Given the description of an element on the screen output the (x, y) to click on. 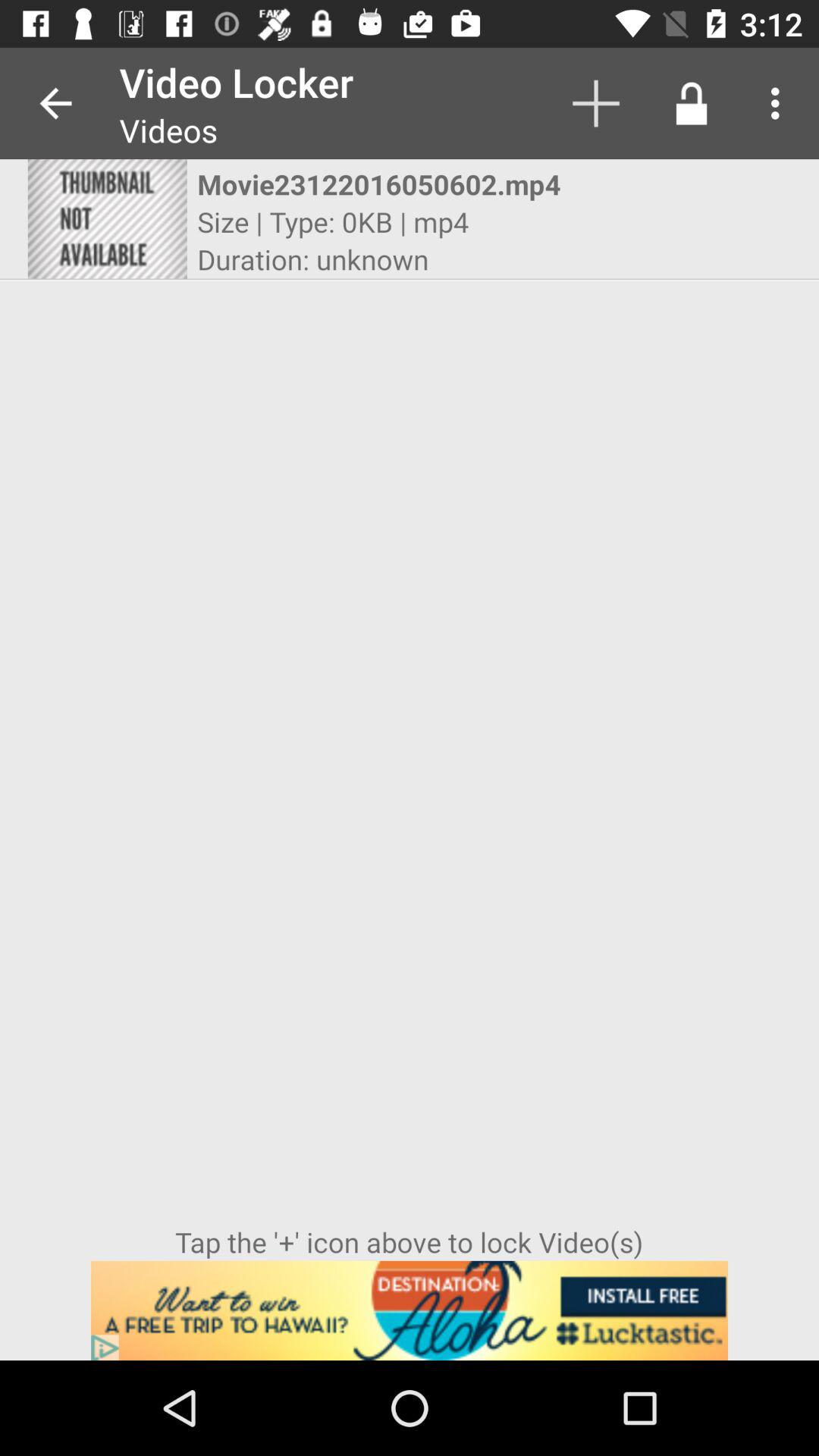
advertisement (409, 1310)
